Given the description of an element on the screen output the (x, y) to click on. 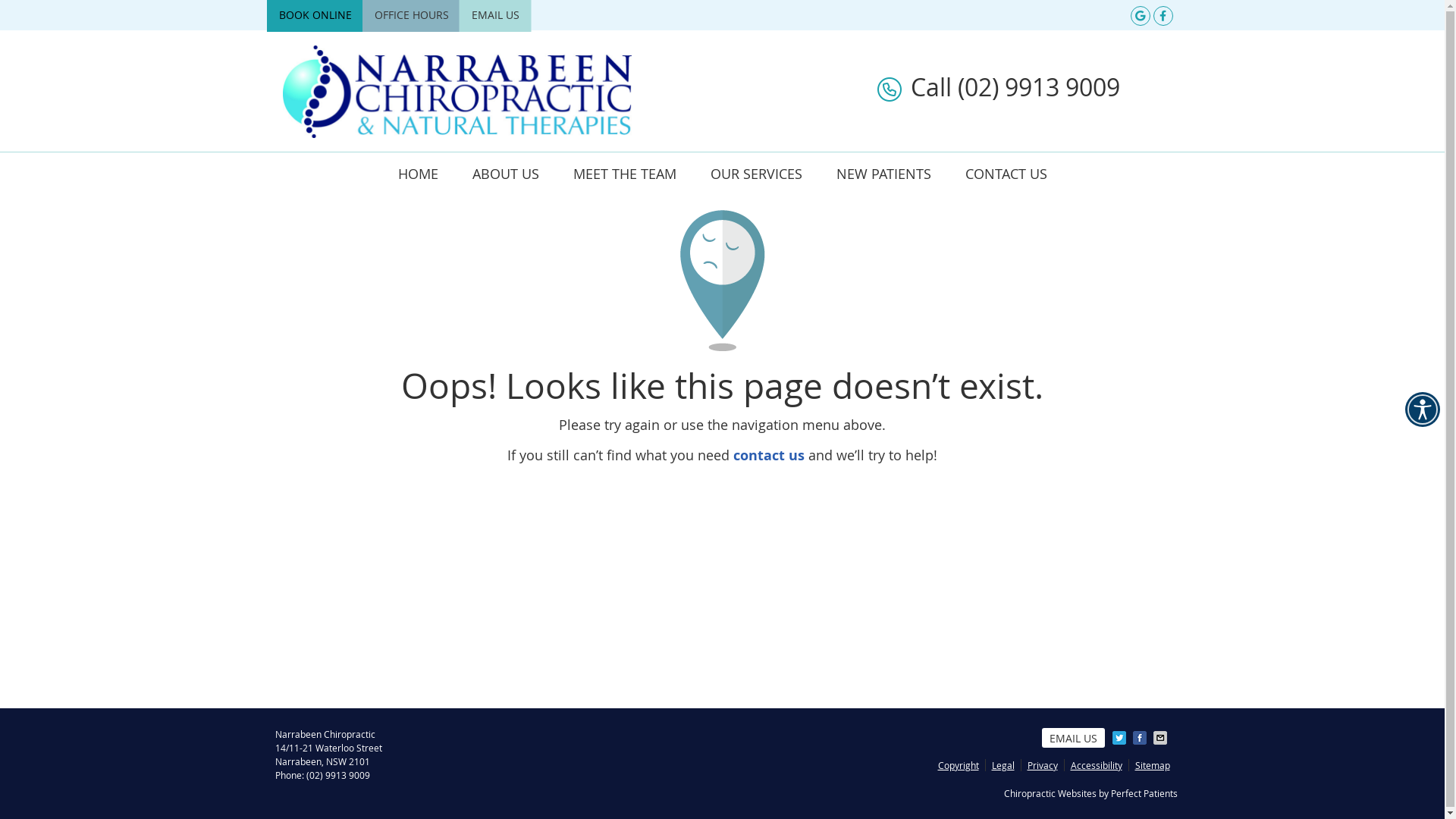
OFFICE HOURS Element type: text (411, 14)
EMAIL US Element type: text (495, 14)
Accessibility Element type: text (1096, 765)
Legal Element type: text (1003, 765)
HOME Element type: text (417, 173)
Google Social Button Element type: text (1138, 15)
CONTACT US Element type: text (1005, 173)
(02) 9913 9009 Element type: text (338, 774)
EMAIL US Element type: text (1072, 737)
MEET THE TEAM Element type: text (624, 173)
Share on Facebook Element type: text (1140, 737)
Copyright Element type: text (958, 765)
Facebook Social Button Element type: text (1161, 15)
ABOUT US Element type: text (505, 173)
Sitemap Element type: text (1148, 765)
contact us Element type: text (768, 454)
Share on Twitter Element type: text (1119, 737)
Share via Email Element type: text (1160, 737)
OUR SERVICES Element type: text (756, 173)
NEW PATIENTS Element type: text (883, 173)
BOOK ONLINE Element type: text (315, 14)
Narrabeen Chiropractic Element type: text (456, 132)
Privacy Element type: text (1041, 765)
